Given the description of an element on the screen output the (x, y) to click on. 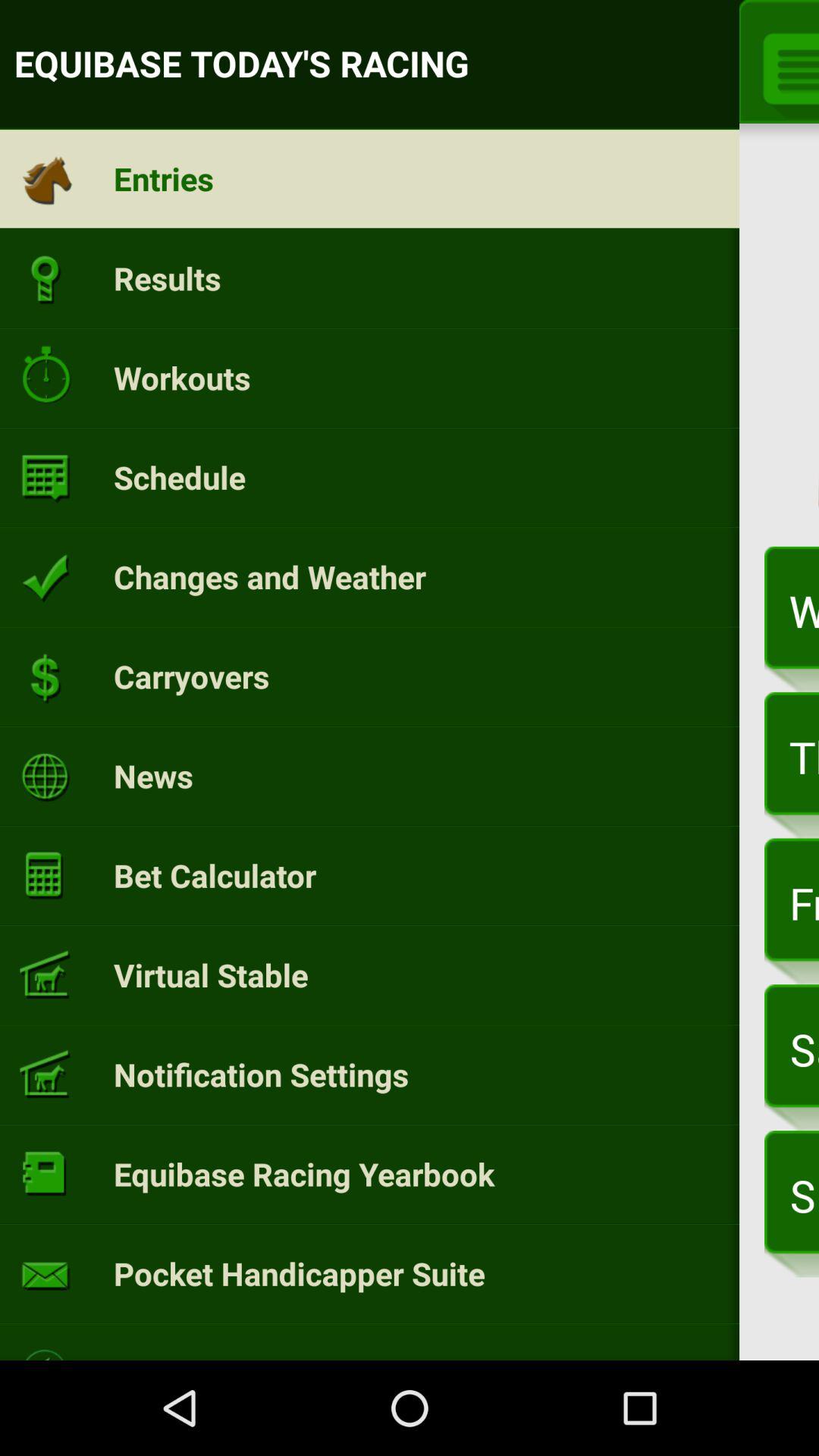
jump until the bet calculator icon (214, 874)
